Given the description of an element on the screen output the (x, y) to click on. 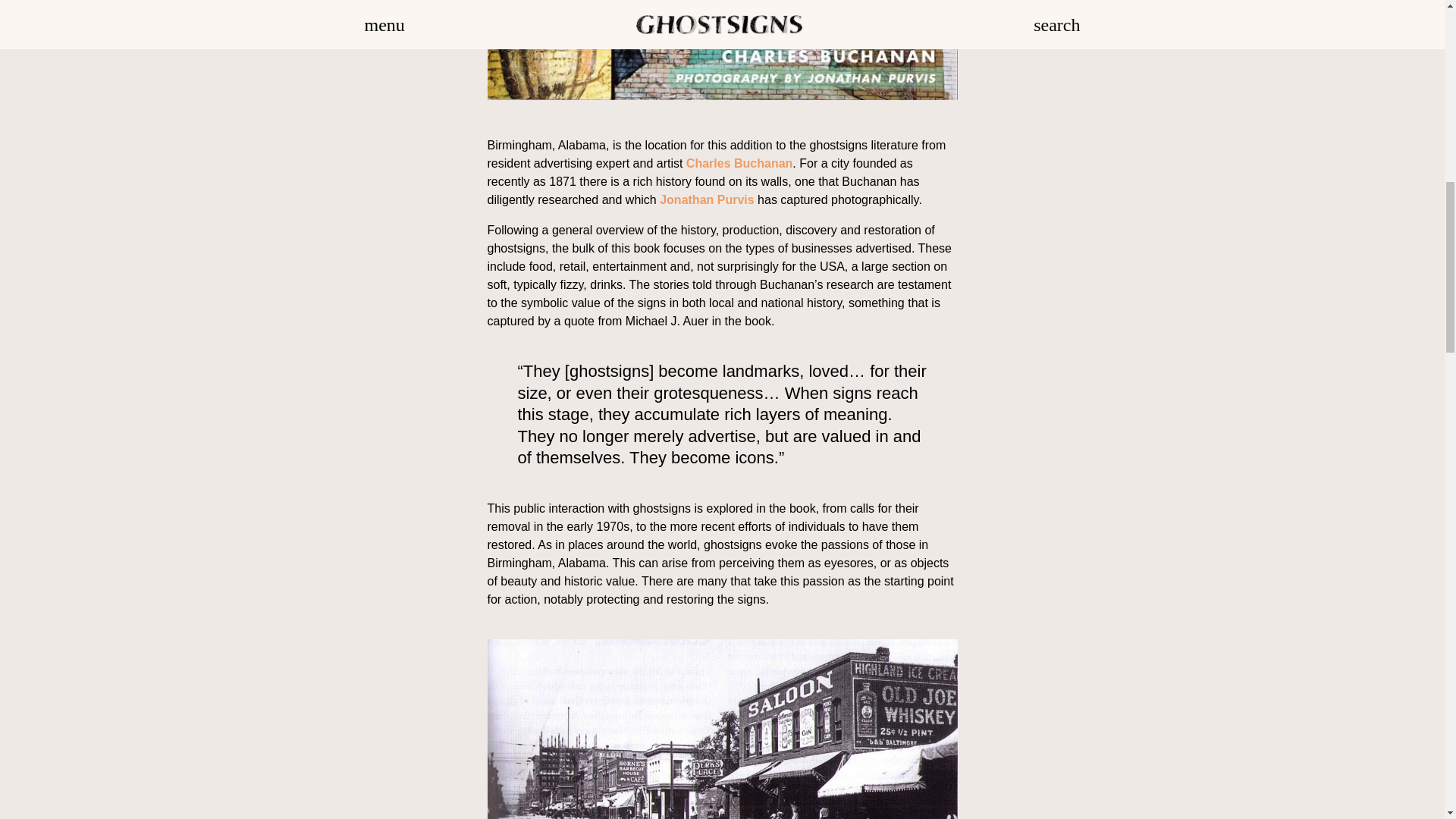
Jonathan Purvis home page (706, 199)
Charles Buchanan home page (738, 163)
Jonathan Purvis (706, 199)
Charles Buchanan (738, 163)
